Given the description of an element on the screen output the (x, y) to click on. 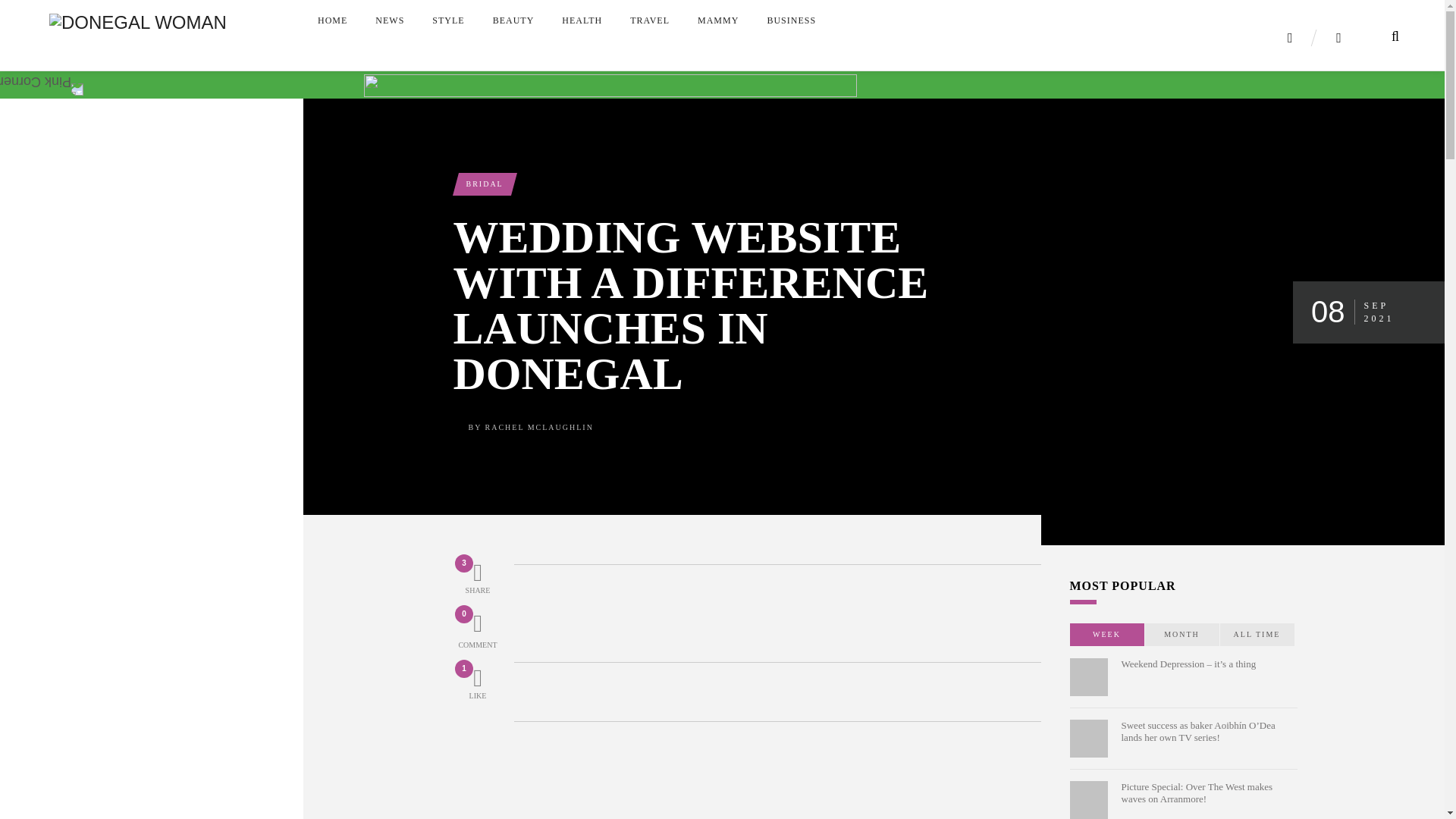
MAMMY (718, 17)
More Bridal Posts (484, 183)
BRIDAL (484, 183)
RACHEL MCLAUGHLIN (539, 427)
NEWS (389, 17)
TRAVEL (648, 17)
HOME (332, 17)
BUSINESS (790, 17)
